Given the description of an element on the screen output the (x, y) to click on. 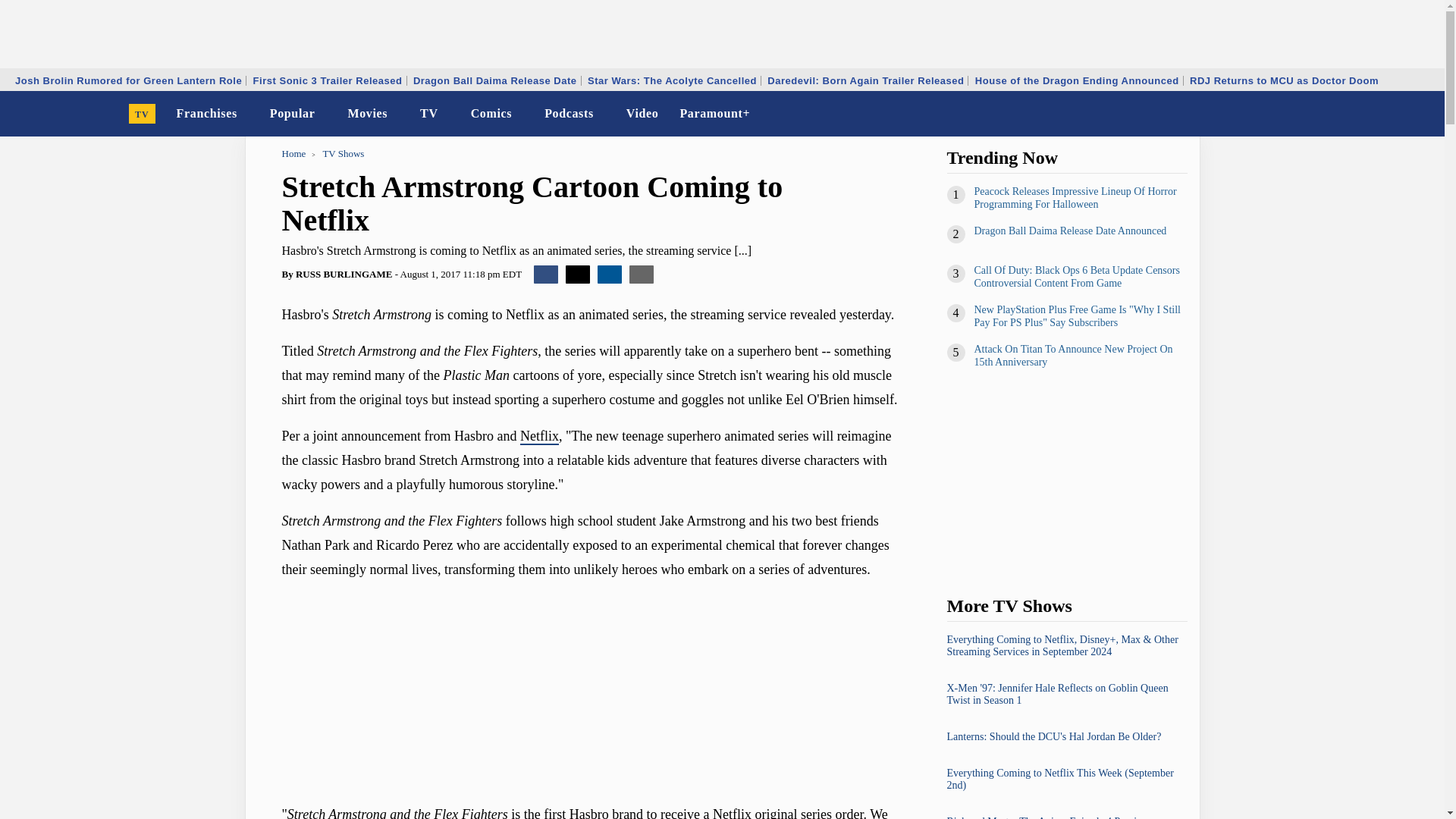
RDJ Returns to MCU as Doctor Doom (1283, 80)
First Sonic 3 Trailer Released (327, 80)
House of the Dragon Ending Announced (1076, 80)
Dragon Ball Daima Release Date (494, 80)
Daredevil: Born Again Trailer Released (865, 80)
TV (142, 113)
Popular (292, 113)
Search (1422, 114)
Dark Mode (1394, 113)
Movies (366, 113)
